Given the description of an element on the screen output the (x, y) to click on. 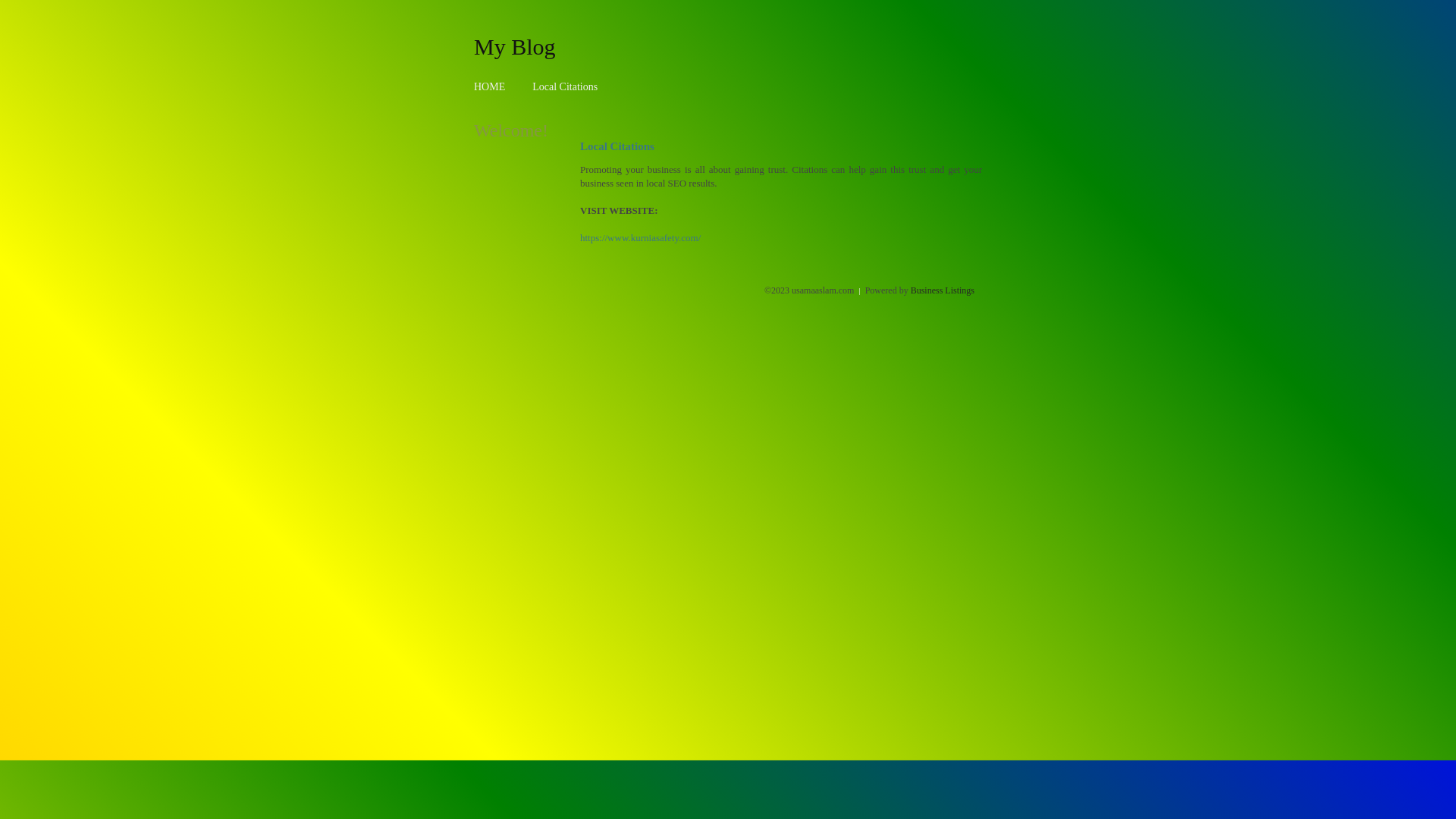
https://www.kurniasafety.com/ Element type: text (640, 237)
Business Listings Element type: text (942, 290)
Local Citations Element type: text (564, 86)
My Blog Element type: text (514, 46)
HOME Element type: text (489, 86)
